Given the description of an element on the screen output the (x, y) to click on. 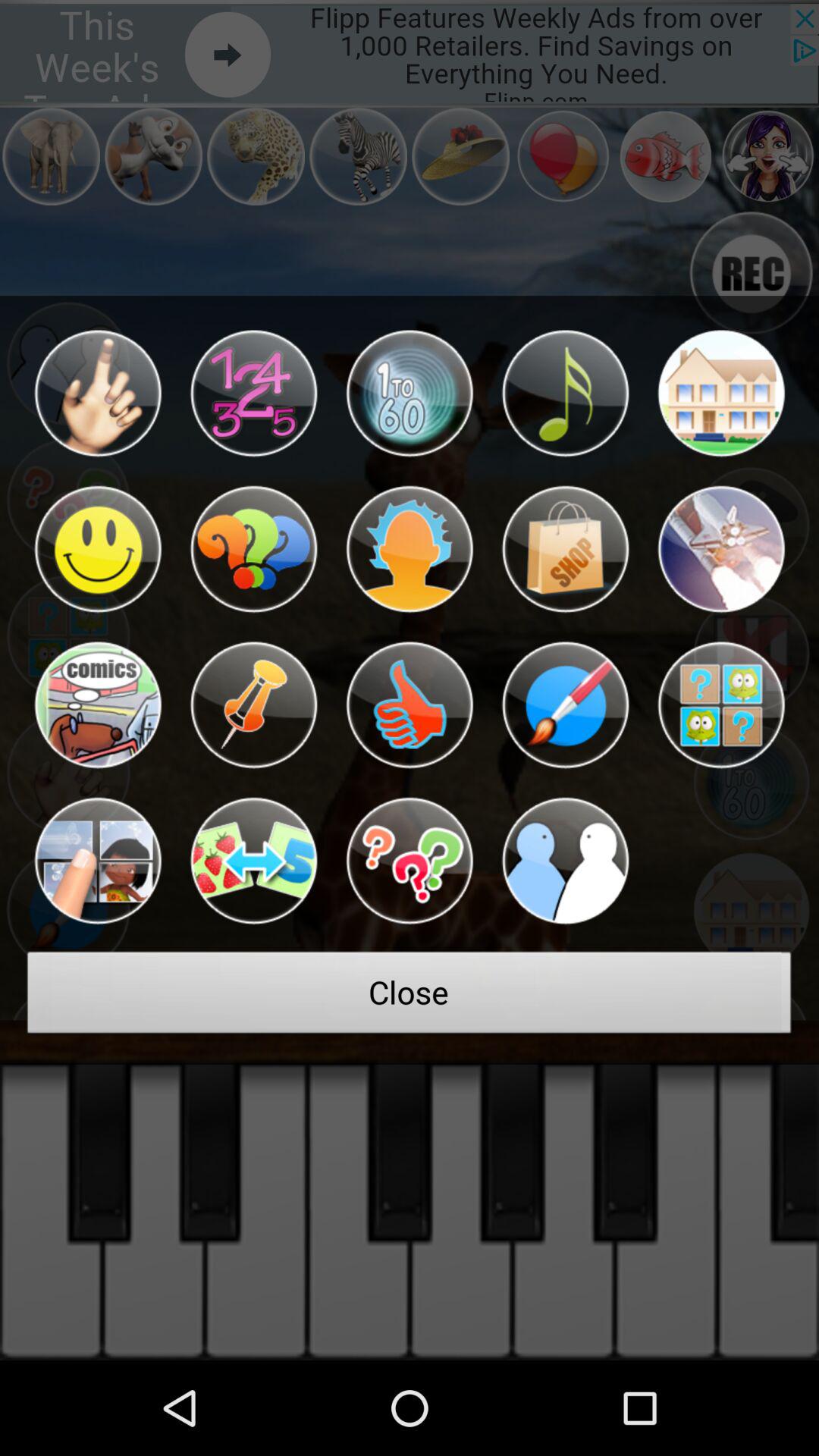
flip to close icon (409, 996)
